Given the description of an element on the screen output the (x, y) to click on. 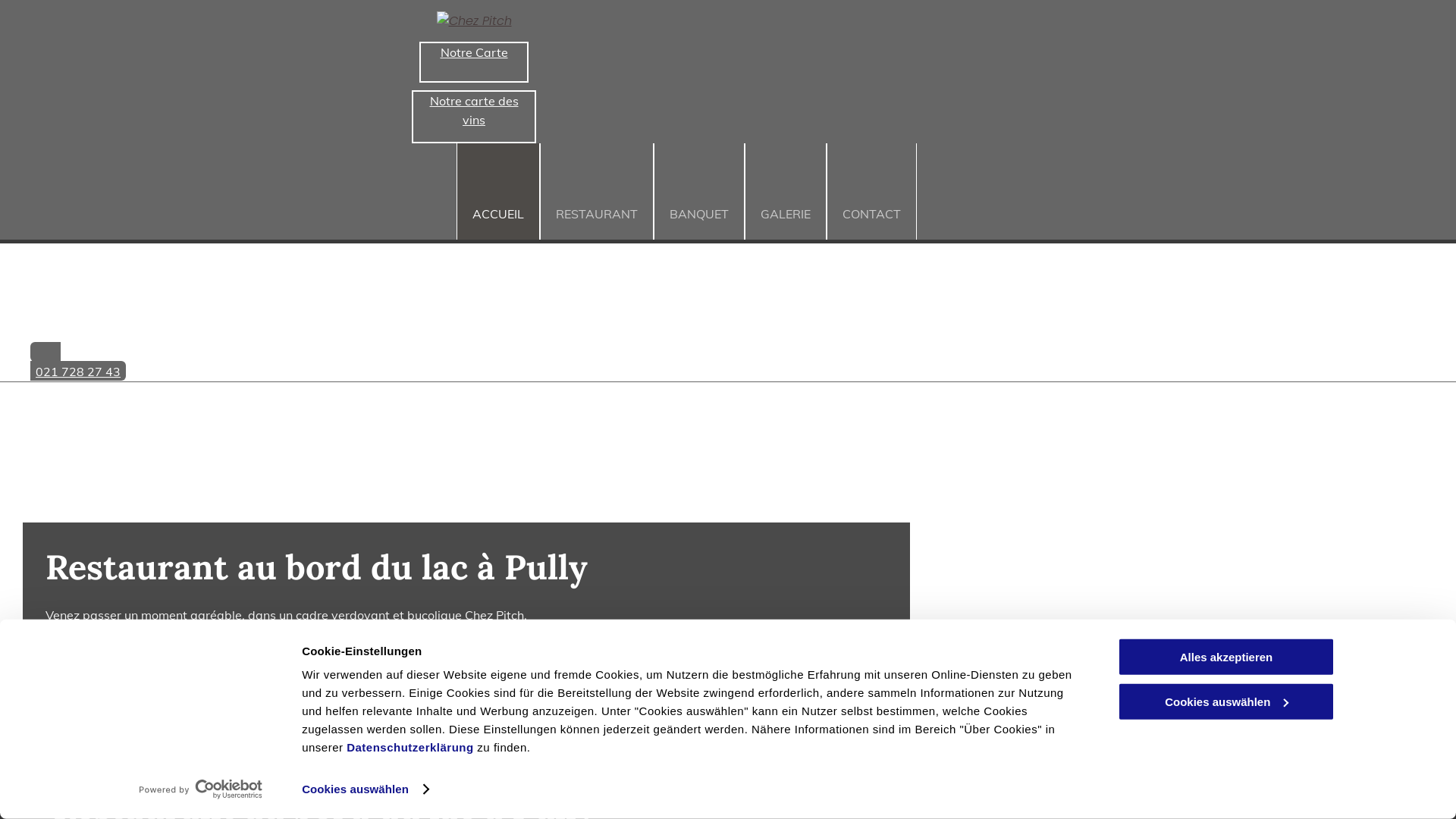
RESTAURANT Element type: text (596, 191)
ACCUEIL Element type: text (497, 191)
BANQUET Element type: text (698, 191)
Notre carte des vins Element type: text (473, 116)
CONTACT Element type: text (871, 191)
GALERIE Element type: text (785, 191)
Notre Carte Element type: text (473, 61)
021 728 27 43 Element type: text (473, 361)
Alles akzeptieren Element type: text (1225, 656)
